Given the description of an element on the screen output the (x, y) to click on. 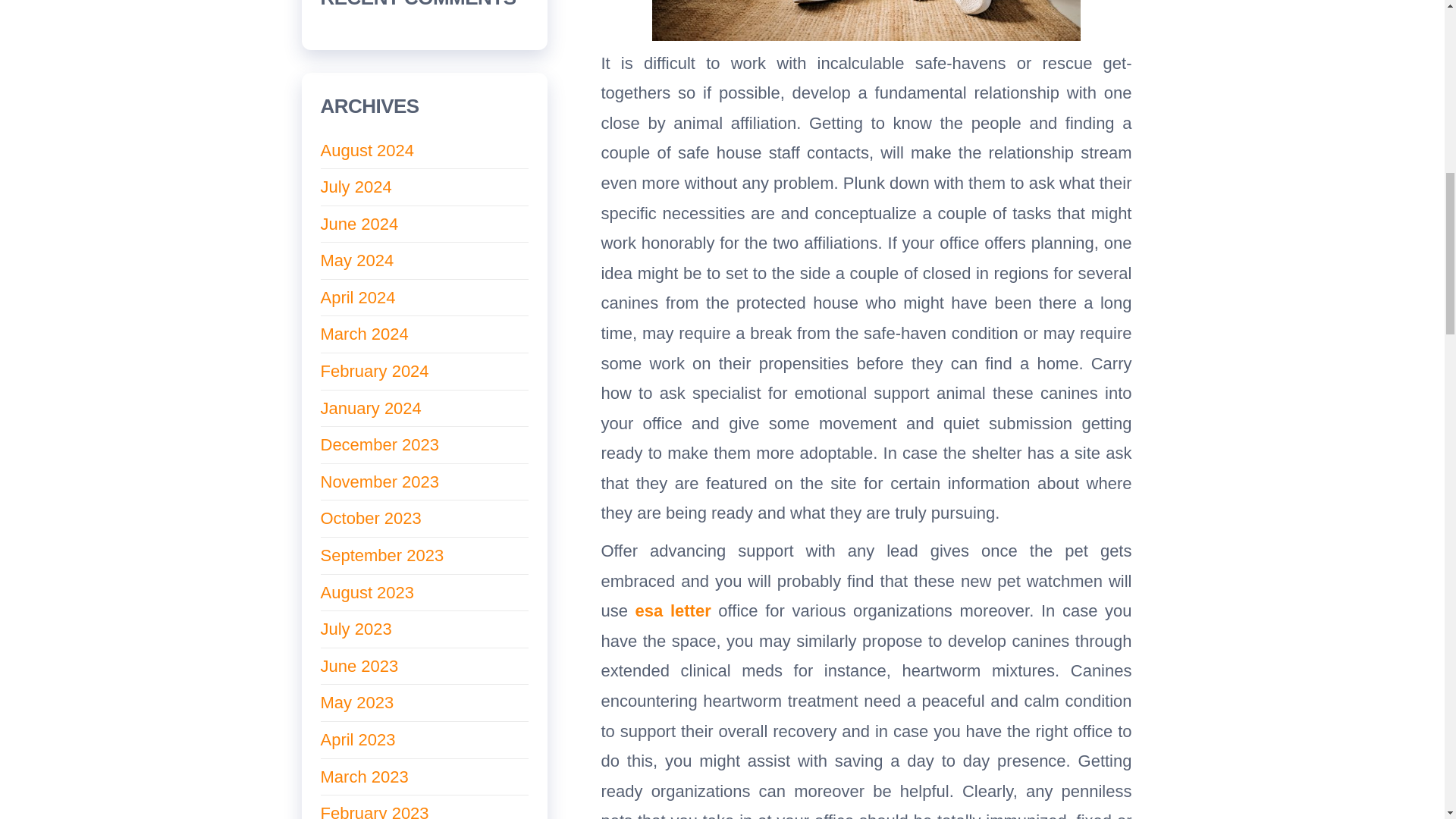
March 2023 (363, 776)
April 2023 (357, 739)
September 2023 (382, 555)
December 2023 (379, 444)
July 2023 (355, 628)
April 2024 (357, 297)
June 2023 (358, 665)
February 2024 (374, 370)
May 2024 (356, 260)
January 2024 (370, 407)
